Given the description of an element on the screen output the (x, y) to click on. 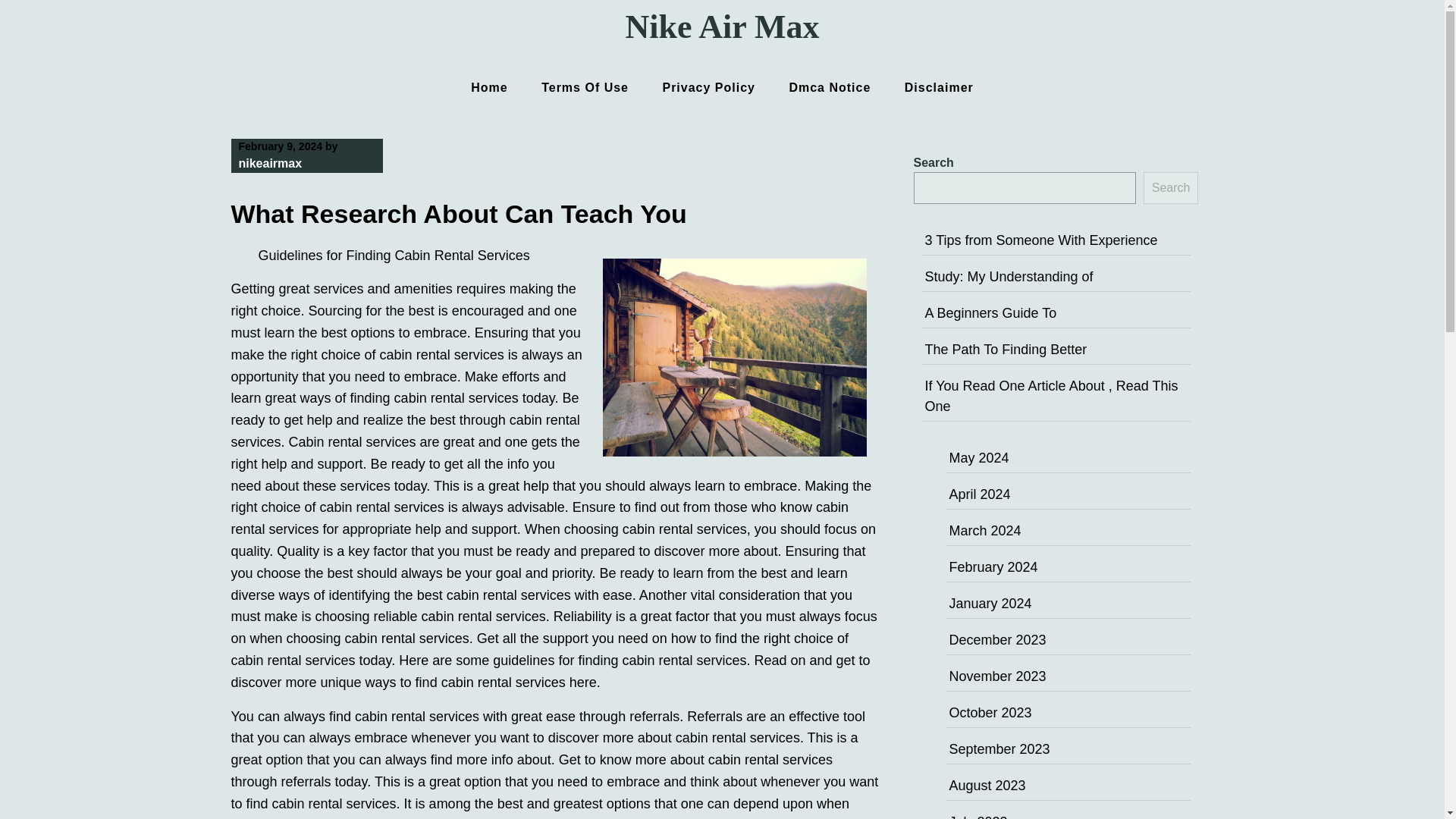
March 2024 (985, 530)
January 2024 (990, 603)
October 2023 (990, 712)
If You Read One Article About , Read This One (1050, 396)
September 2023 (999, 749)
A Beginners Guide To (990, 313)
November 2023 (997, 676)
Privacy Policy (708, 87)
May 2024 (979, 458)
August 2023 (987, 785)
